Given the description of an element on the screen output the (x, y) to click on. 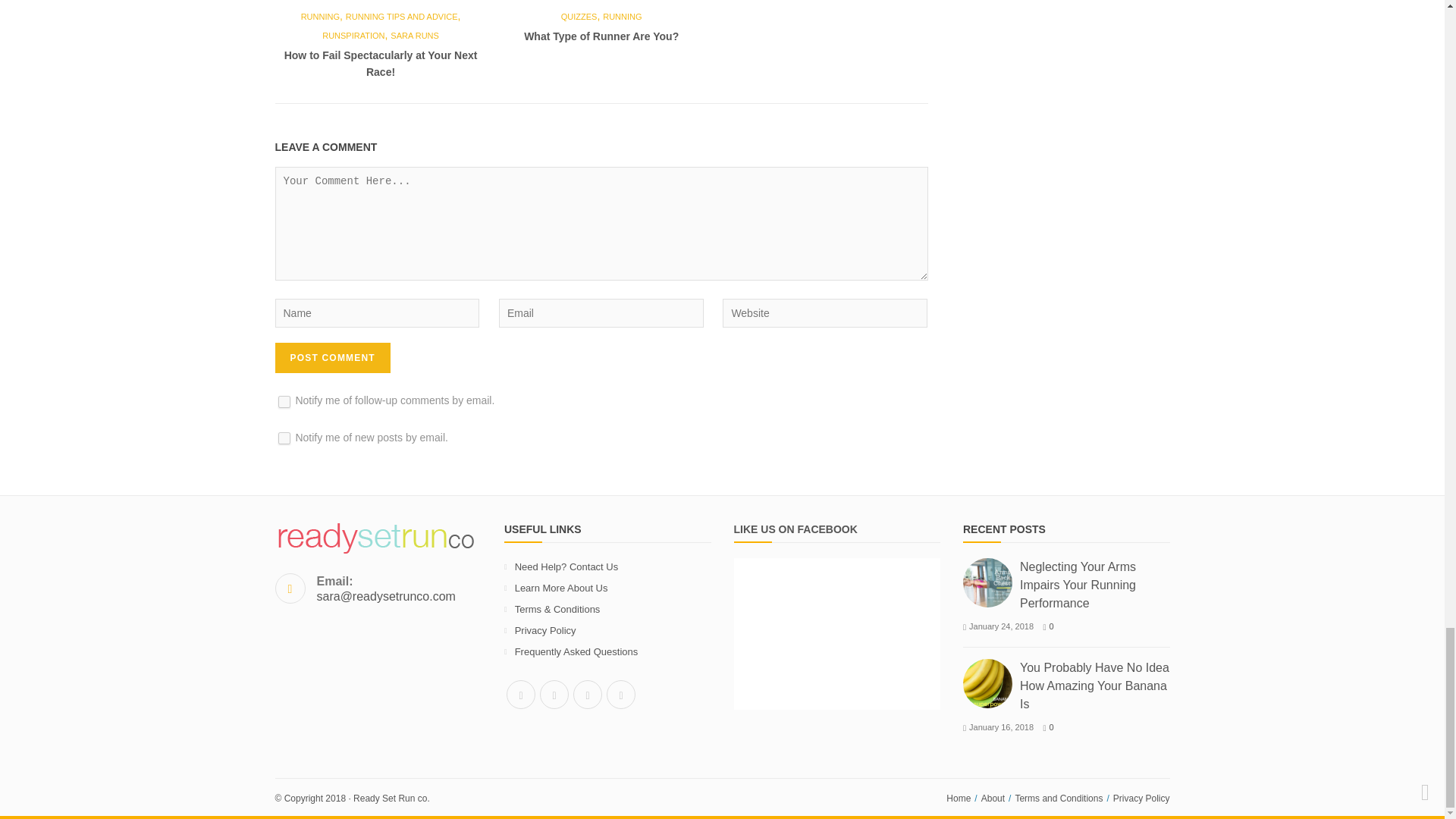
subscribe (283, 438)
Post Comment (332, 358)
subscribe (283, 401)
